Given the description of an element on the screen output the (x, y) to click on. 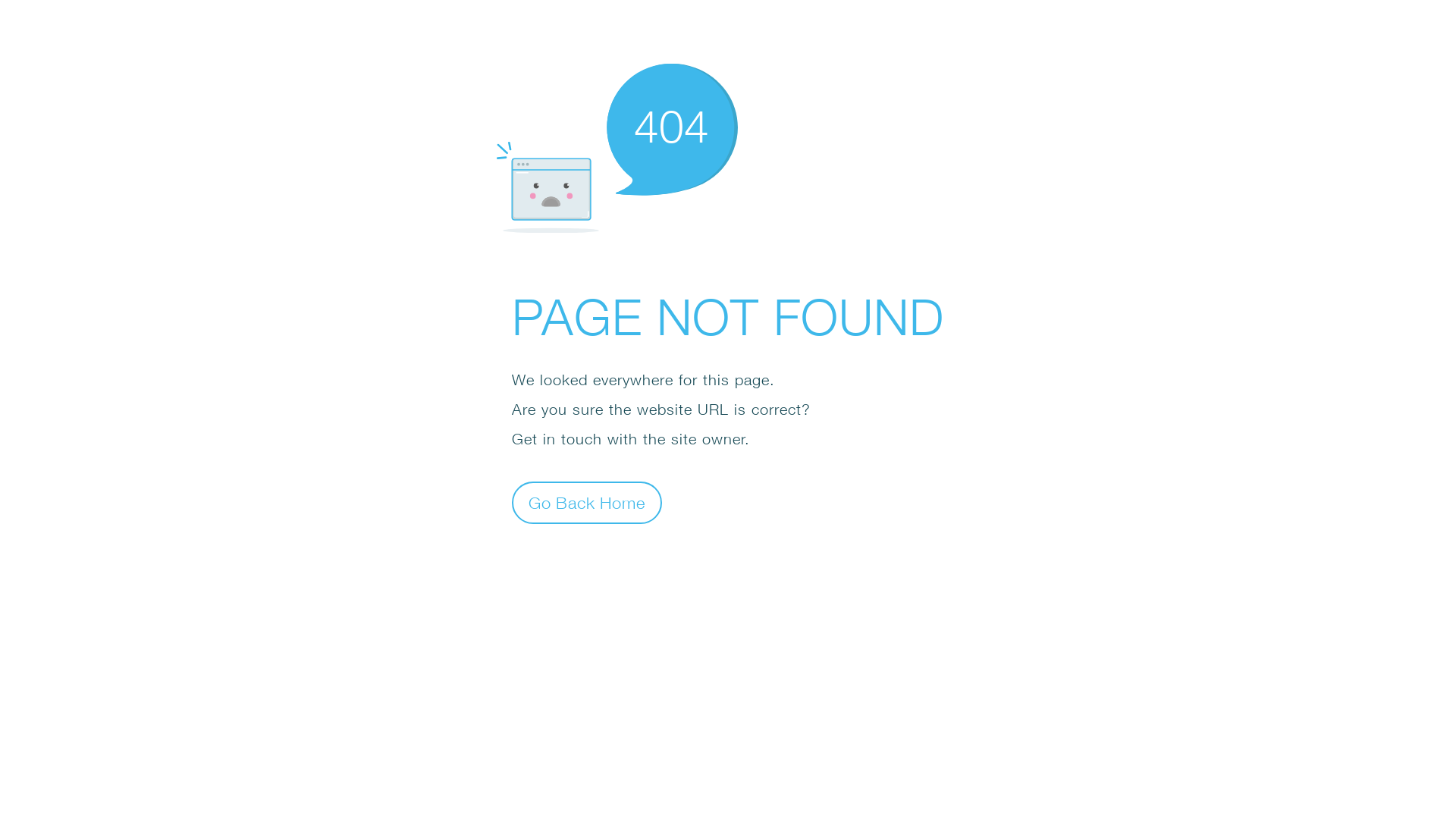
Go Back Home Element type: text (586, 502)
